Given the description of an element on the screen output the (x, y) to click on. 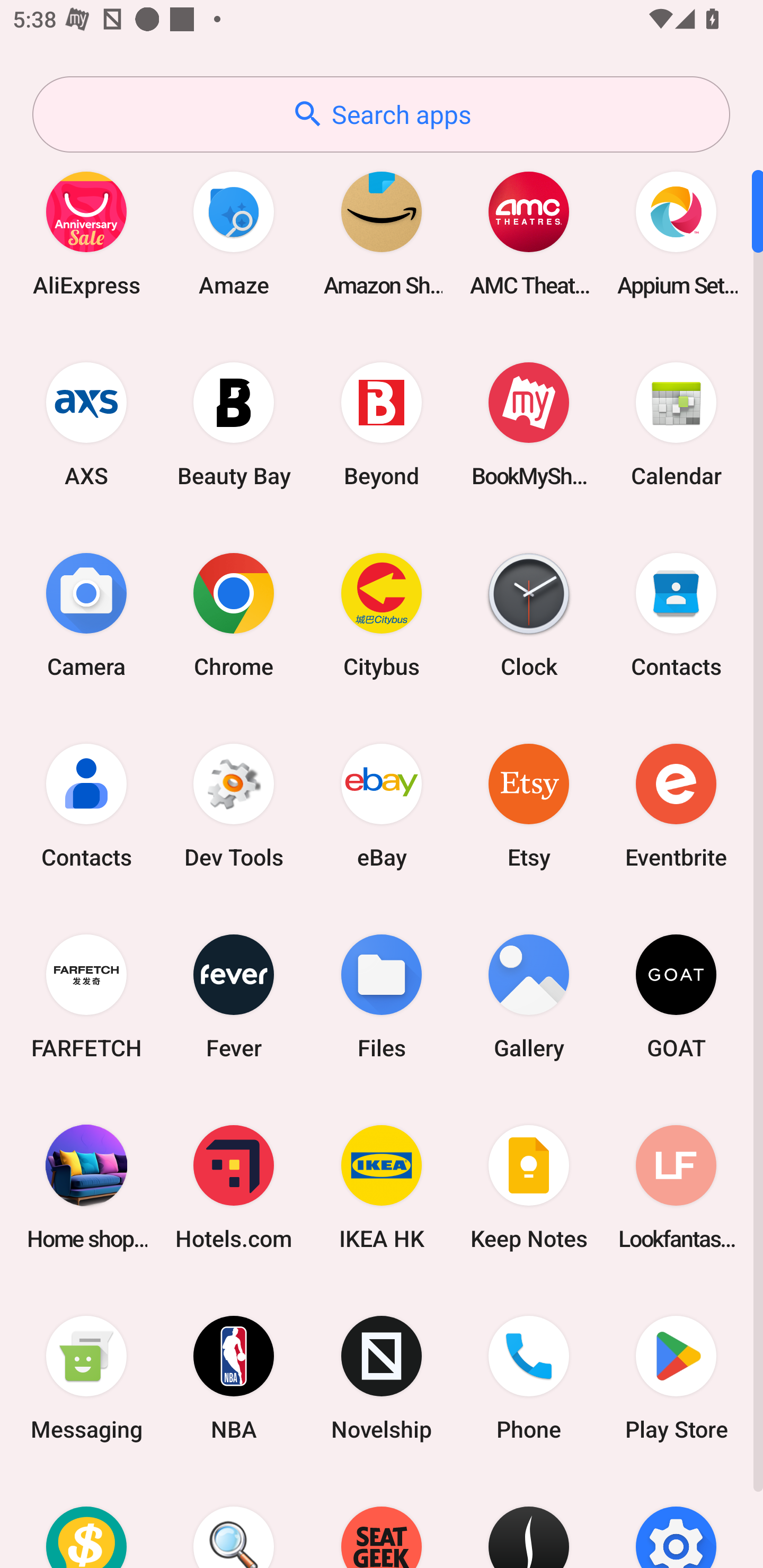
  Search apps (381, 114)
AliExpress (86, 233)
Amaze (233, 233)
Amazon Shopping (381, 233)
AMC Theatres (528, 233)
Appium Settings (676, 233)
AXS (86, 424)
Beauty Bay (233, 424)
Beyond (381, 424)
BookMyShow (528, 424)
Calendar (676, 424)
Camera (86, 614)
Chrome (233, 614)
Citybus (381, 614)
Clock (528, 614)
Contacts (676, 614)
Contacts (86, 805)
Dev Tools (233, 805)
eBay (381, 805)
Etsy (528, 805)
Eventbrite (676, 805)
FARFETCH (86, 996)
Fever (233, 996)
Files (381, 996)
Gallery (528, 996)
GOAT (676, 996)
Home shopping (86, 1186)
Hotels.com (233, 1186)
IKEA HK (381, 1186)
Keep Notes (528, 1186)
Lookfantastic (676, 1186)
Messaging (86, 1377)
NBA (233, 1377)
Novelship (381, 1377)
Phone (528, 1377)
Play Store (676, 1377)
Price (86, 1520)
Search (233, 1520)
SeatGeek (381, 1520)
Sephora (528, 1520)
Settings (676, 1520)
